Given the description of an element on the screen output the (x, y) to click on. 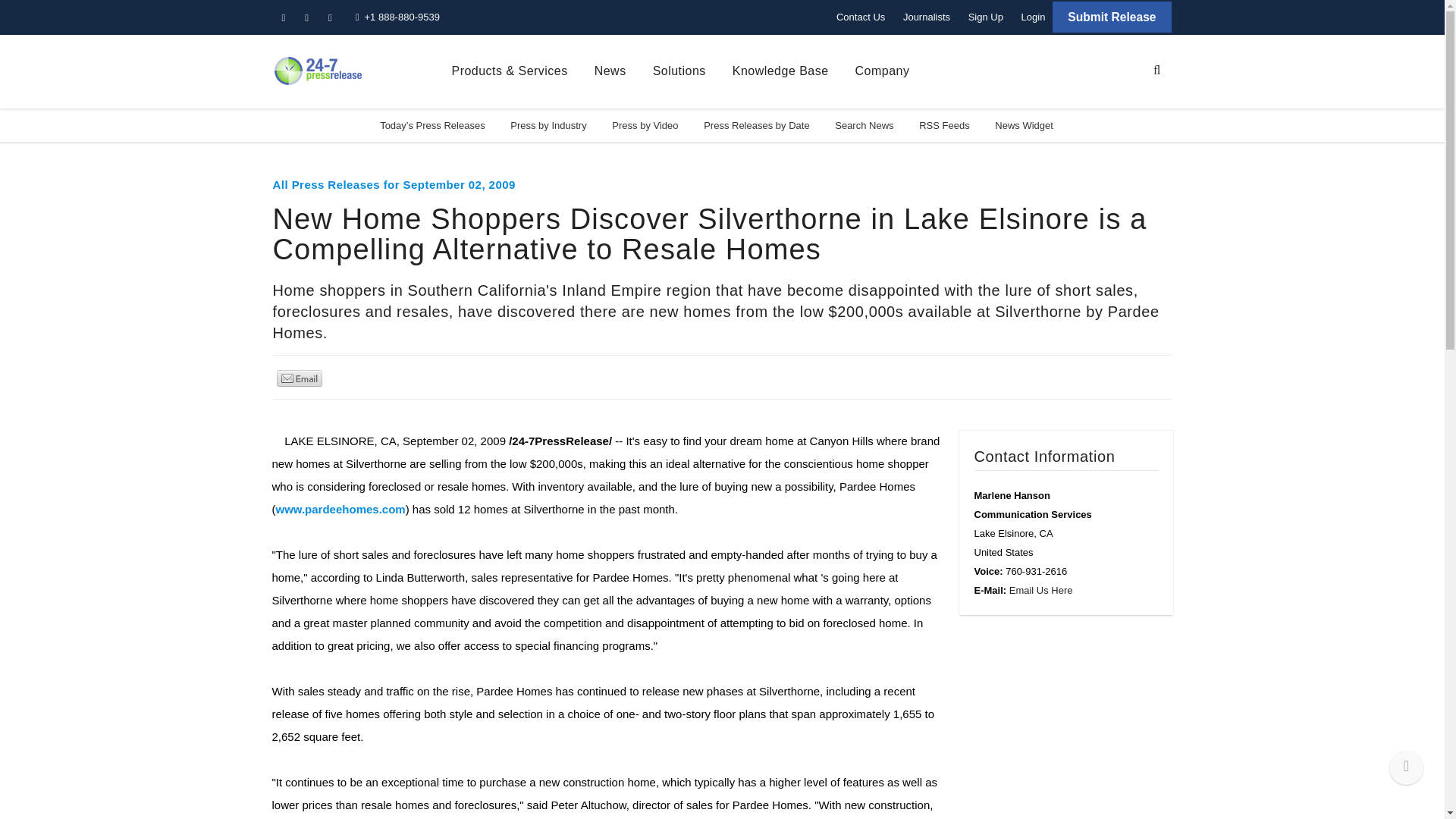
Knowledge Base (780, 71)
Sign Up (985, 16)
Submit Release (1111, 16)
Login (1032, 16)
Company (882, 71)
Solutions (679, 71)
Contact Us (860, 16)
Journalists (926, 16)
